Given the description of an element on the screen output the (x, y) to click on. 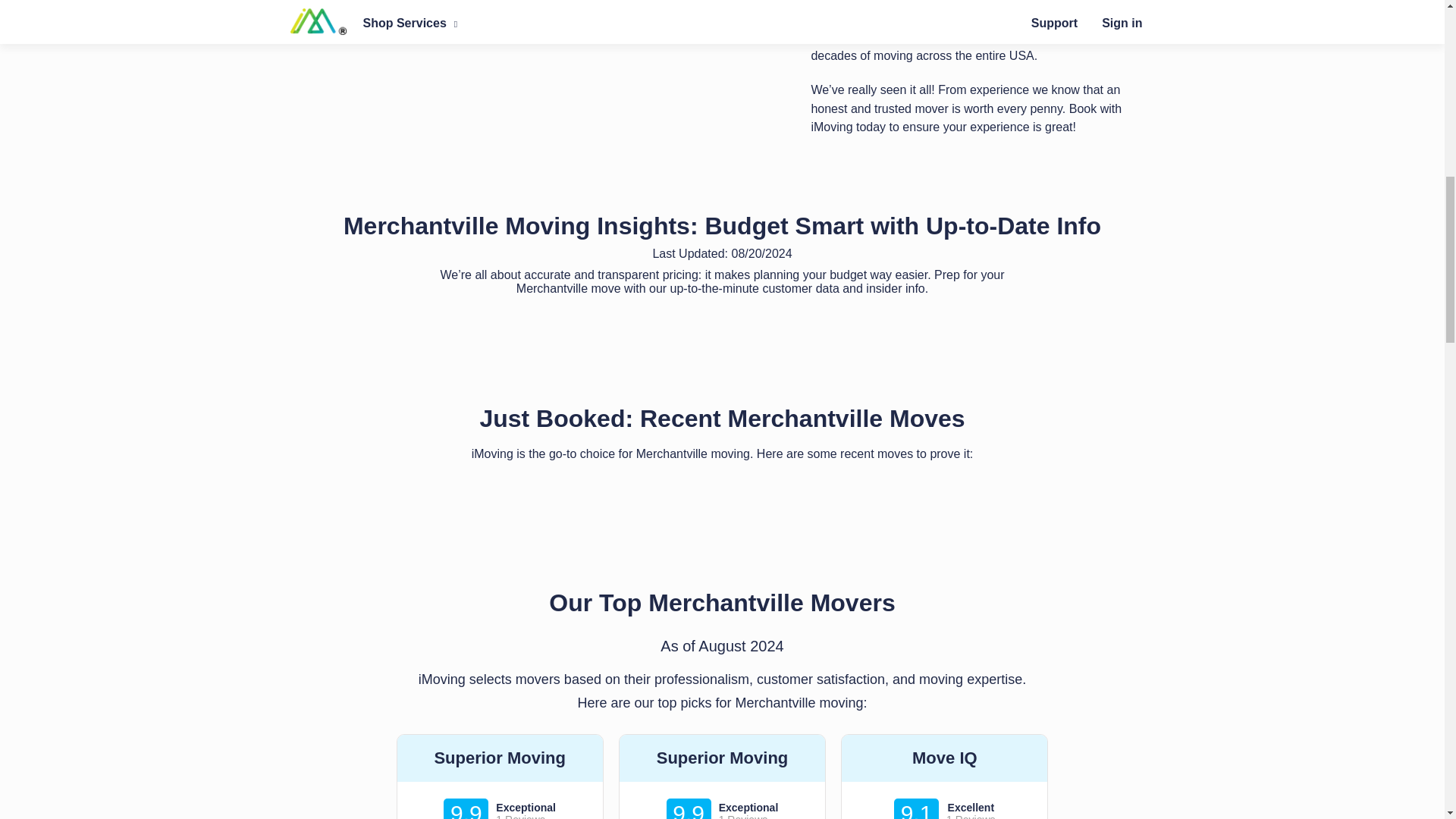
Move IQ (943, 758)
Superior Moving  (499, 758)
Superior Moving  (722, 758)
